Given the description of an element on the screen output the (x, y) to click on. 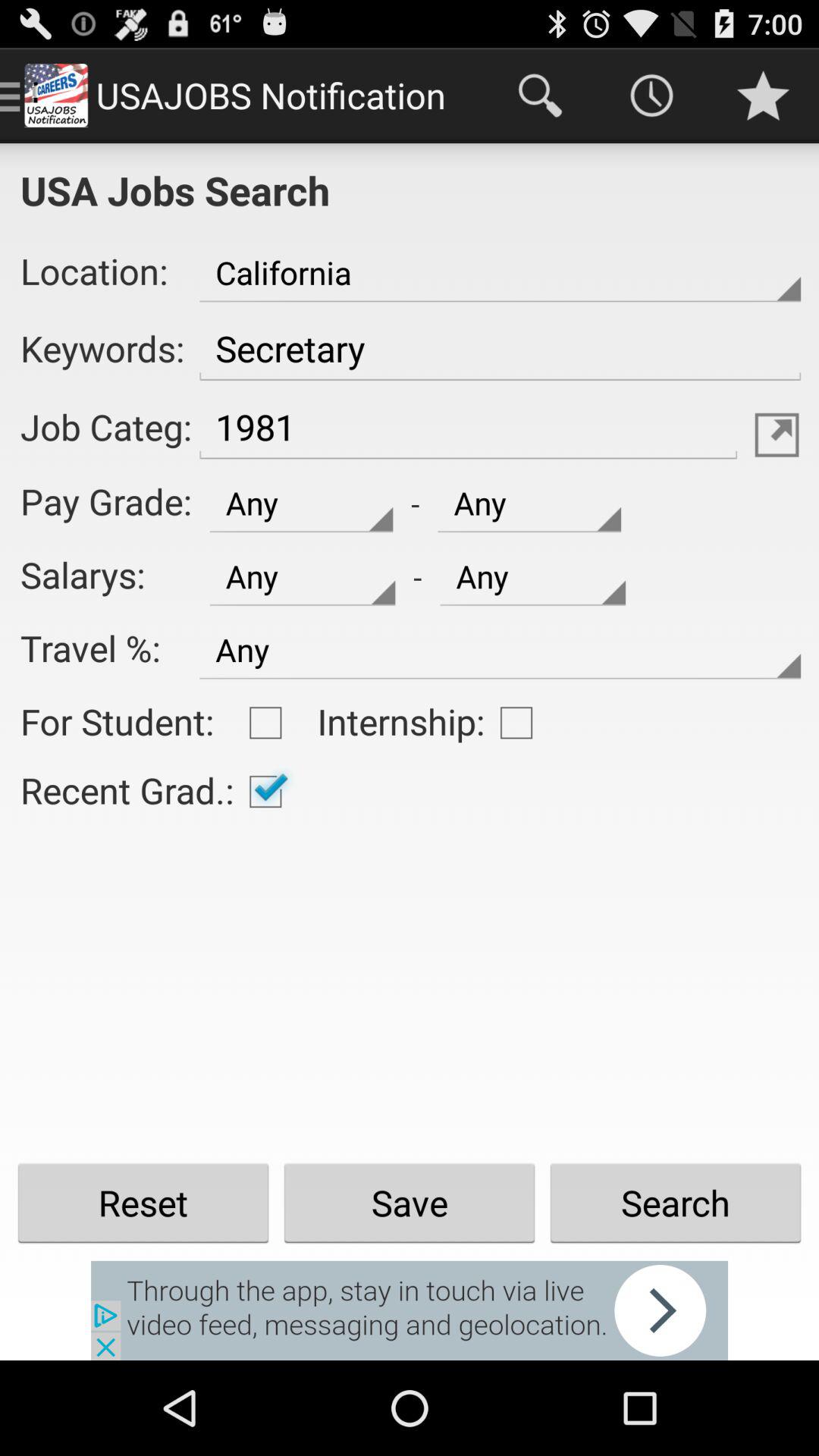
live video feed (409, 1310)
